Given the description of an element on the screen output the (x, y) to click on. 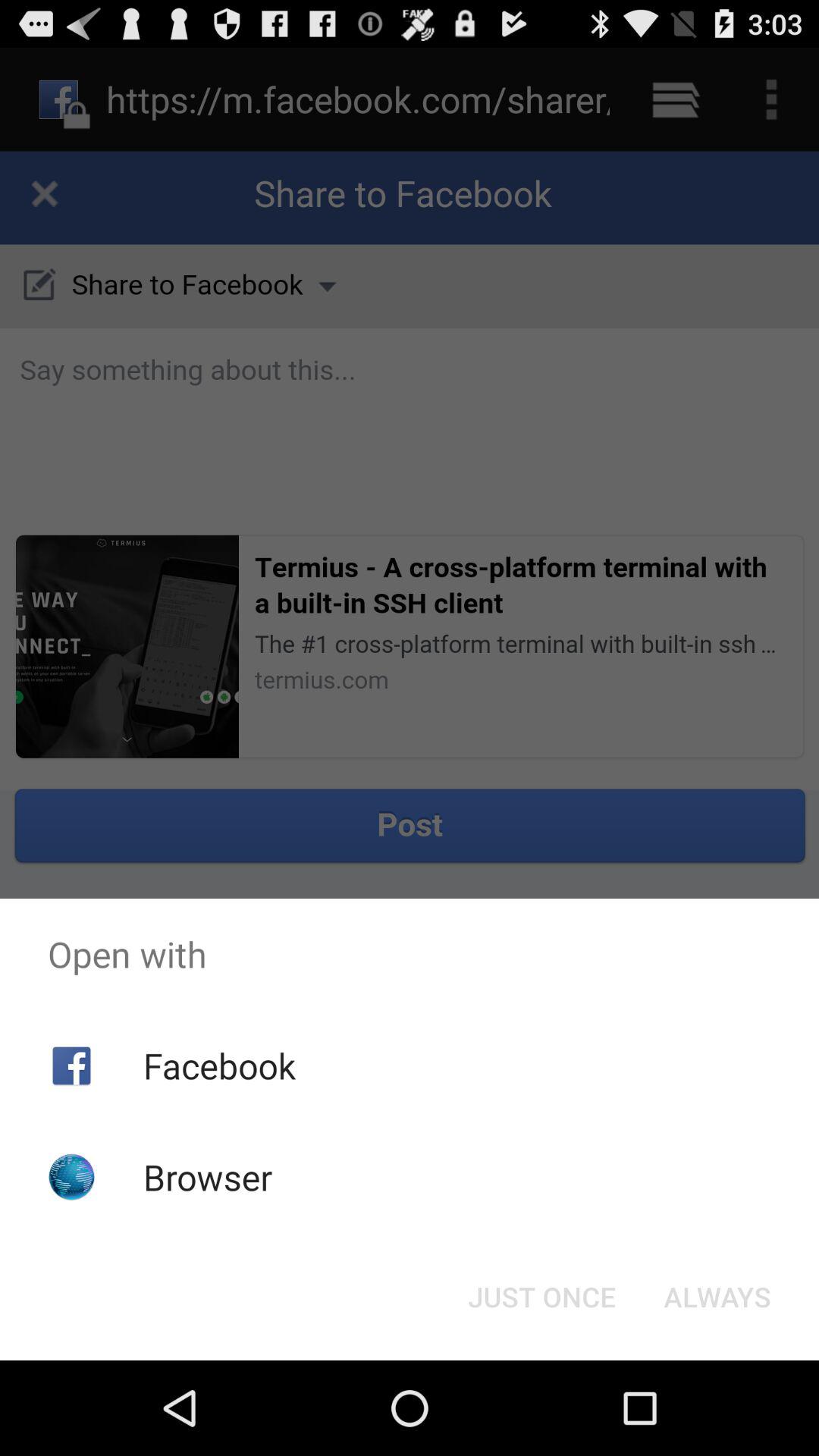
turn off the button at the bottom right corner (717, 1296)
